Given the description of an element on the screen output the (x, y) to click on. 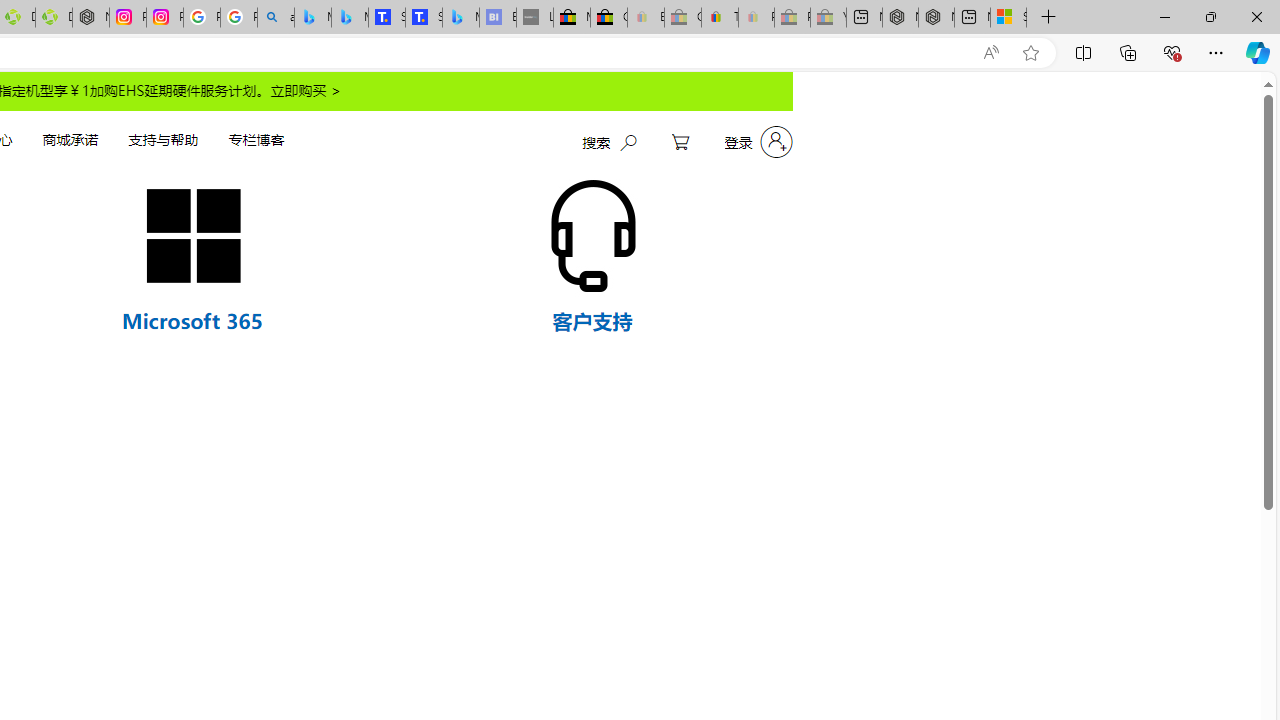
My Cart (679, 142)
Microsoft Bing Travel - Flights from Hong Kong to Bangkok (312, 17)
alabama high school quarterback dies - Search (276, 17)
Shangri-La Bangkok, Hotel reviews and Room rates (423, 17)
